Given the description of an element on the screen output the (x, y) to click on. 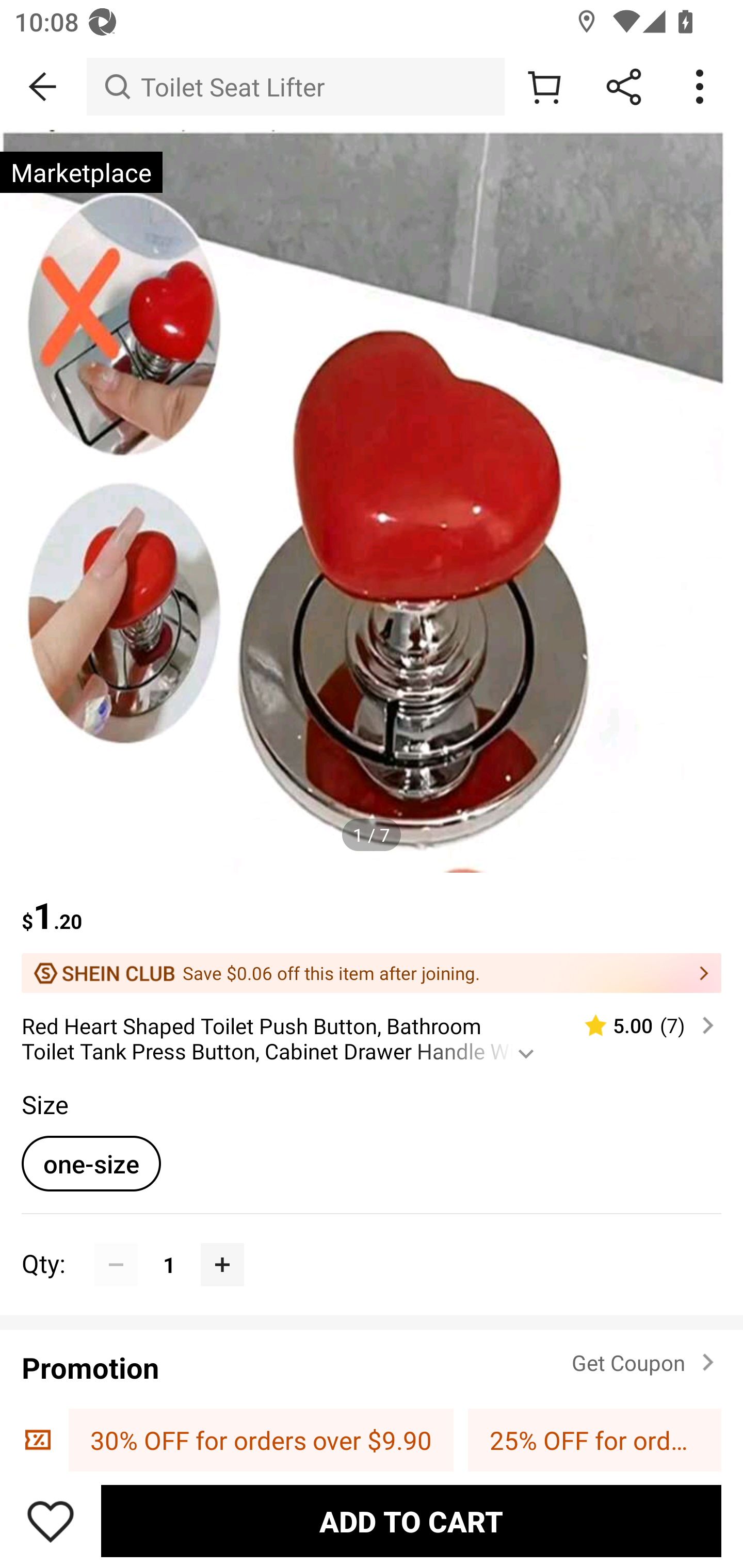
BACK (43, 86)
Toilet Seat Lifter (295, 87)
PHOTOS Marketplace 1 / 7 (371, 501)
1 / 7 (371, 834)
$1.20 Save $0.06 off this item after joining. (371, 932)
Save $0.06 off this item after joining. (371, 972)
5.00 (7) (640, 1025)
Size (44, 1103)
one-size one-sizeselected option (91, 1163)
Qty: 1 (371, 1241)
ADD TO CART (411, 1520)
Save (50, 1520)
